Given the description of an element on the screen output the (x, y) to click on. 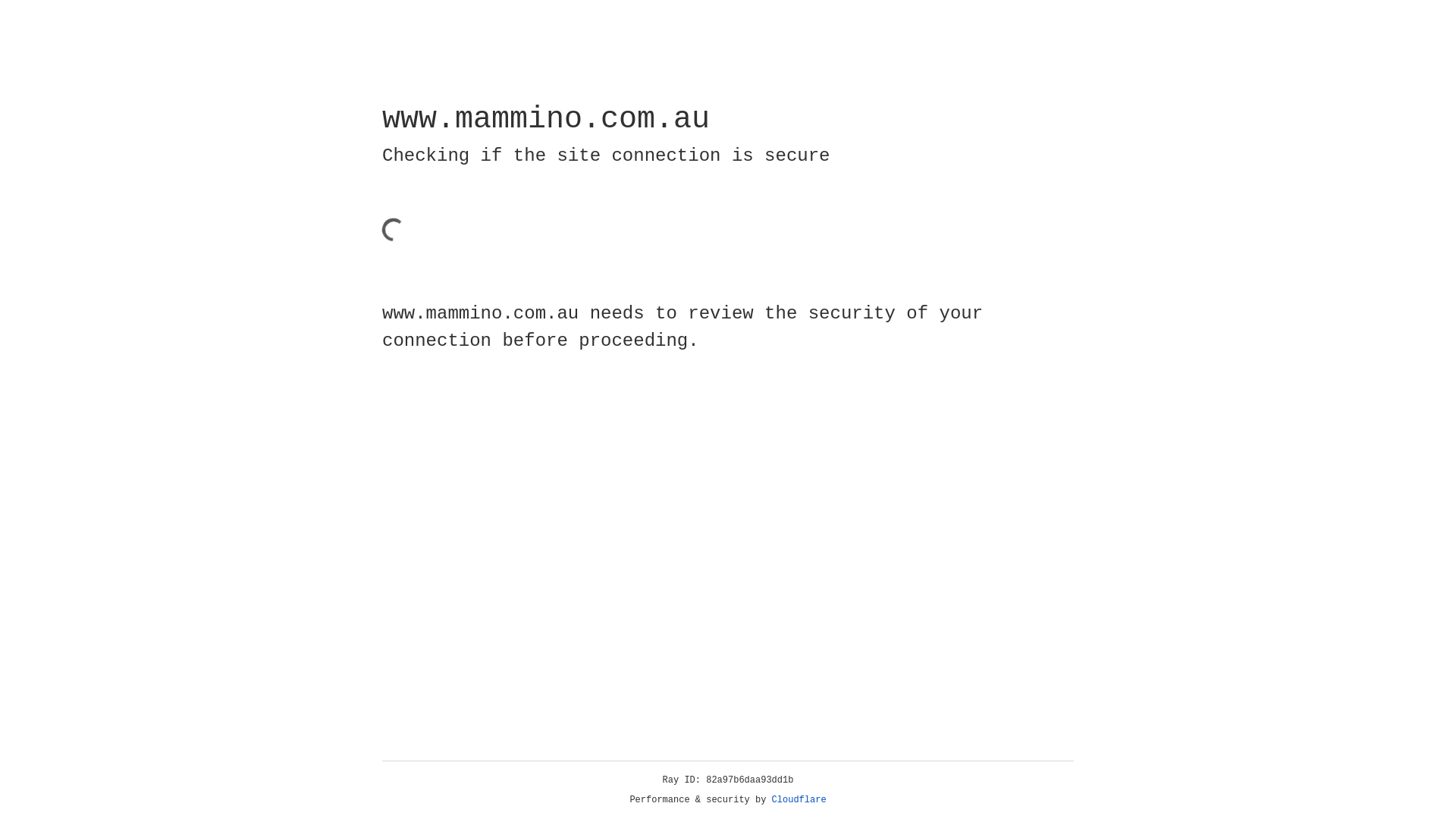
Cloudflare Element type: text (798, 799)
